Given the description of an element on the screen output the (x, y) to click on. 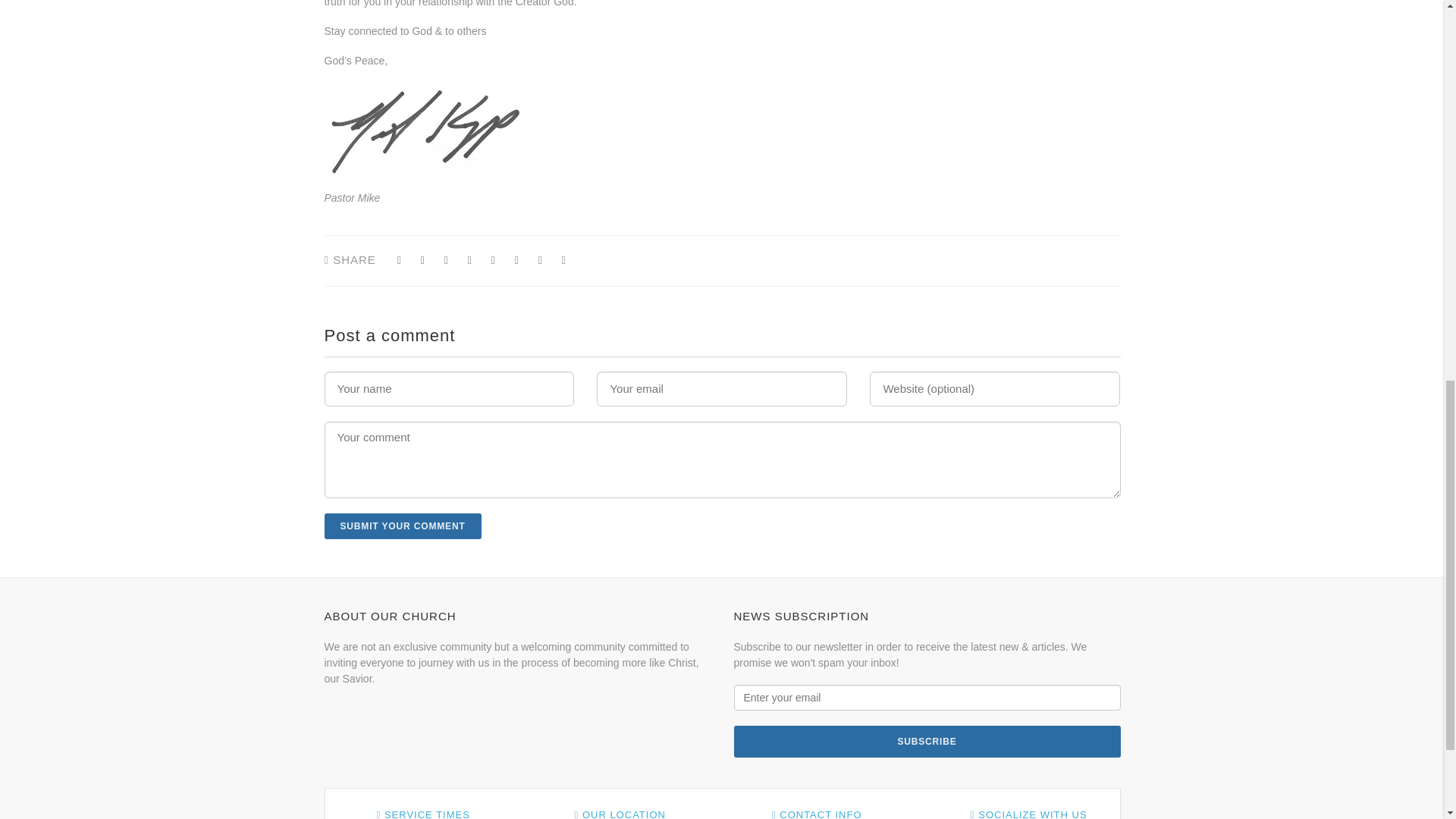
Share on Linkedin (540, 260)
Pin it (492, 260)
Post to Tumblr (469, 260)
Subscribe (927, 741)
Tweet (422, 260)
Share on Facebook (399, 260)
Share on Facebook (445, 260)
Email (563, 260)
Next (825, 137)
Submit to Reddit (515, 260)
Submit your comment (402, 525)
